Given the description of an element on the screen output the (x, y) to click on. 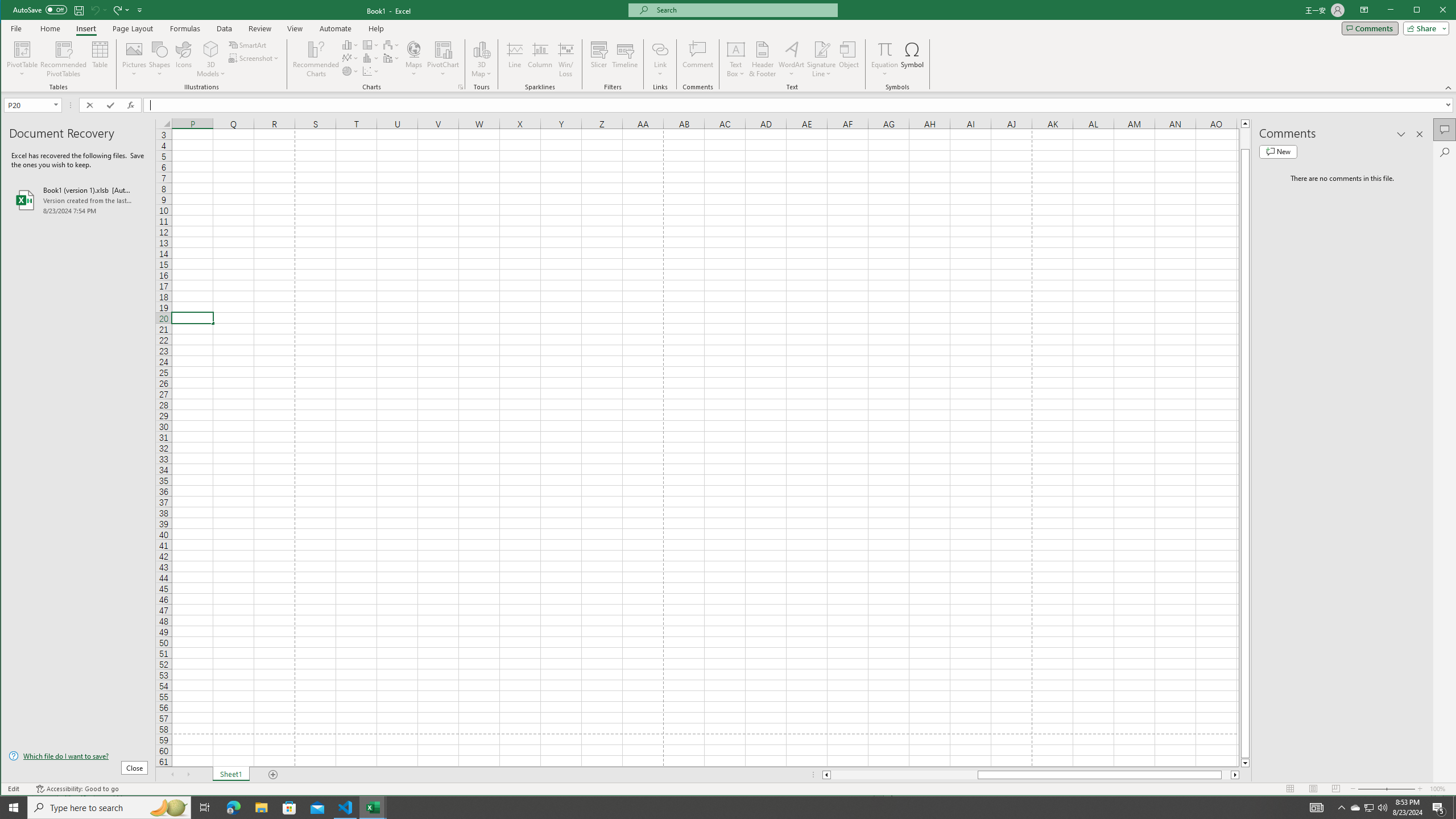
Zoom Out (1372, 788)
File Explorer (261, 807)
Page Break Preview (1335, 788)
Equation (884, 59)
Screenshot (254, 57)
Action Center, 5 new notifications (1439, 807)
Draw Horizontal Text Box (735, 48)
Help (376, 28)
Minimize (1419, 11)
Line down (1245, 763)
Signature Line (821, 48)
Book1 (version 1).xlsb  [AutoRecovered] (78, 199)
Text Box (735, 59)
